Given the description of an element on the screen output the (x, y) to click on. 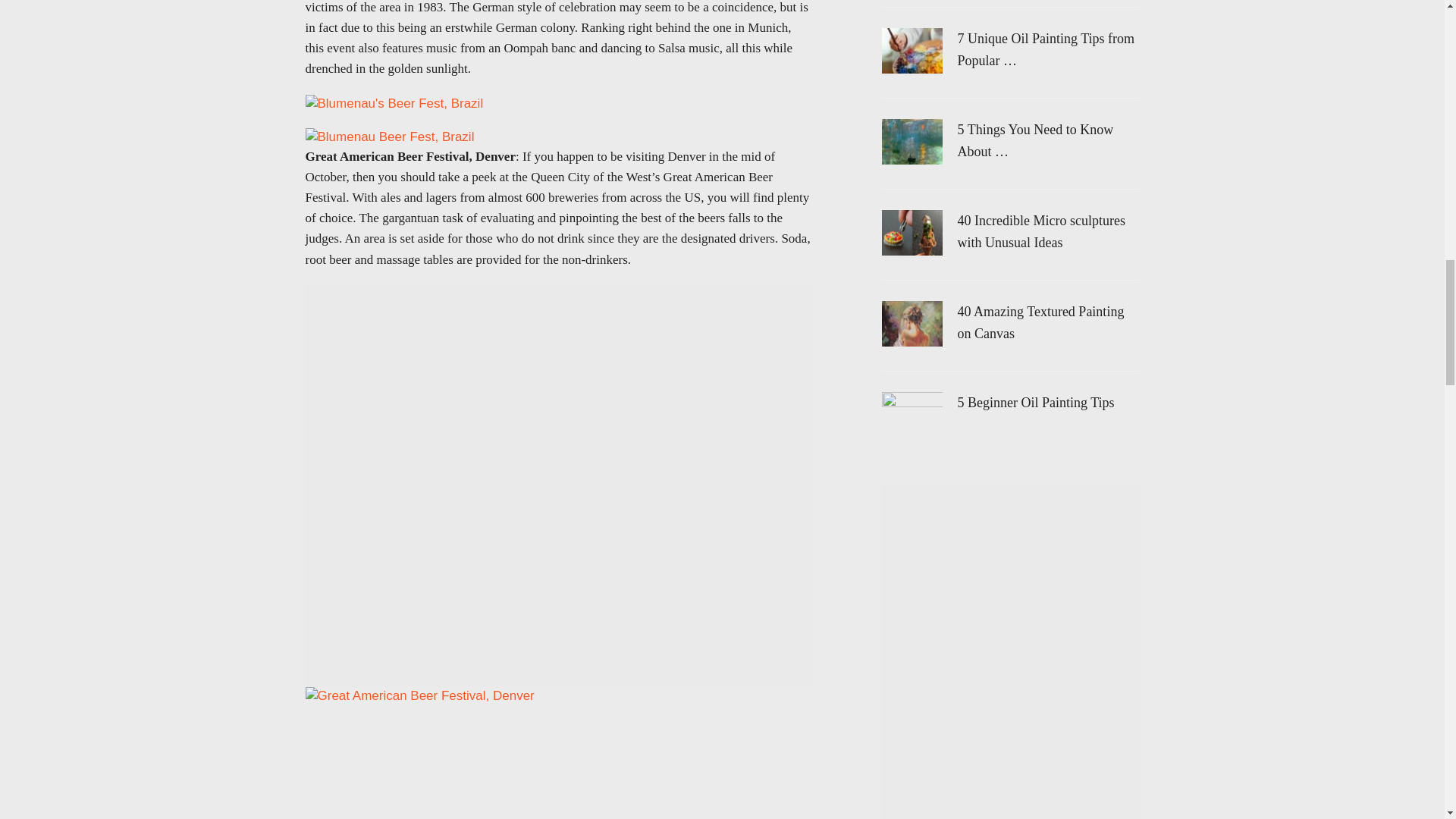
Blumenau Beer Fest, Brazil (389, 136)
Blumenau's Beer Fest, Brazil (393, 104)
Great American Beer Festival, Denver (419, 696)
